Given the description of an element on the screen output the (x, y) to click on. 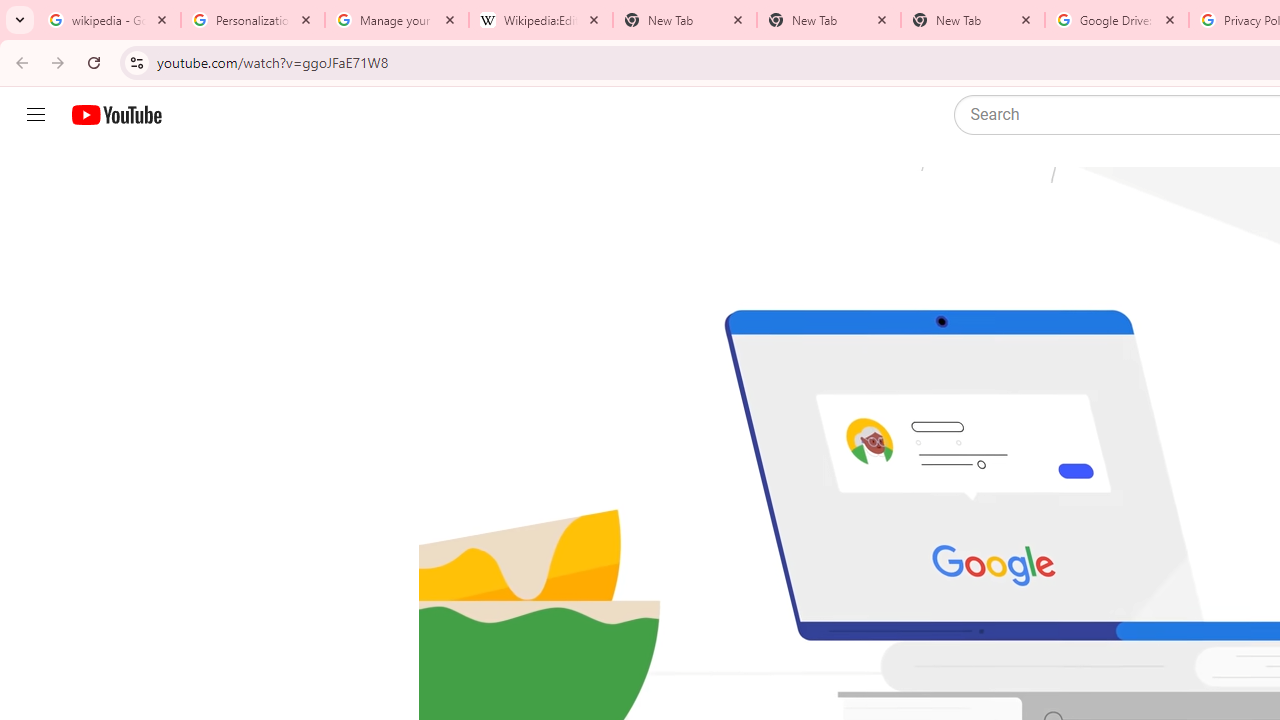
Google Drive: Sign-in (1116, 20)
Guide (35, 115)
Manage your Location History - Google Search Help (396, 20)
New Tab (828, 20)
Personalization & Google Search results - Google Search Help (252, 20)
YouTube Home (116, 115)
